Given the description of an element on the screen output the (x, y) to click on. 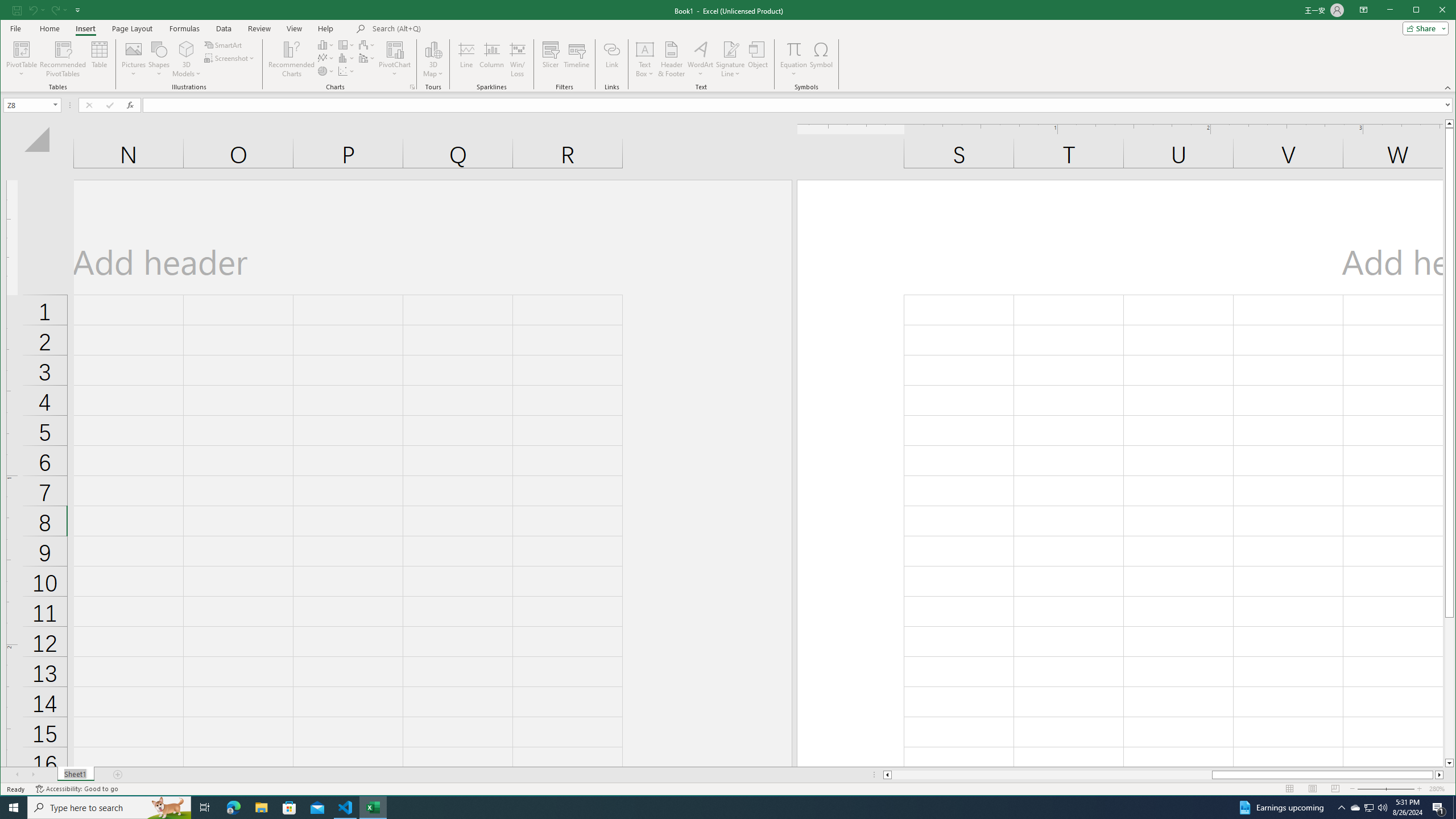
Line (466, 59)
Start (13, 807)
Task View (204, 807)
Table (99, 59)
Column (492, 59)
Action Center, 1 new notification (1439, 807)
